Given the description of an element on the screen output the (x, y) to click on. 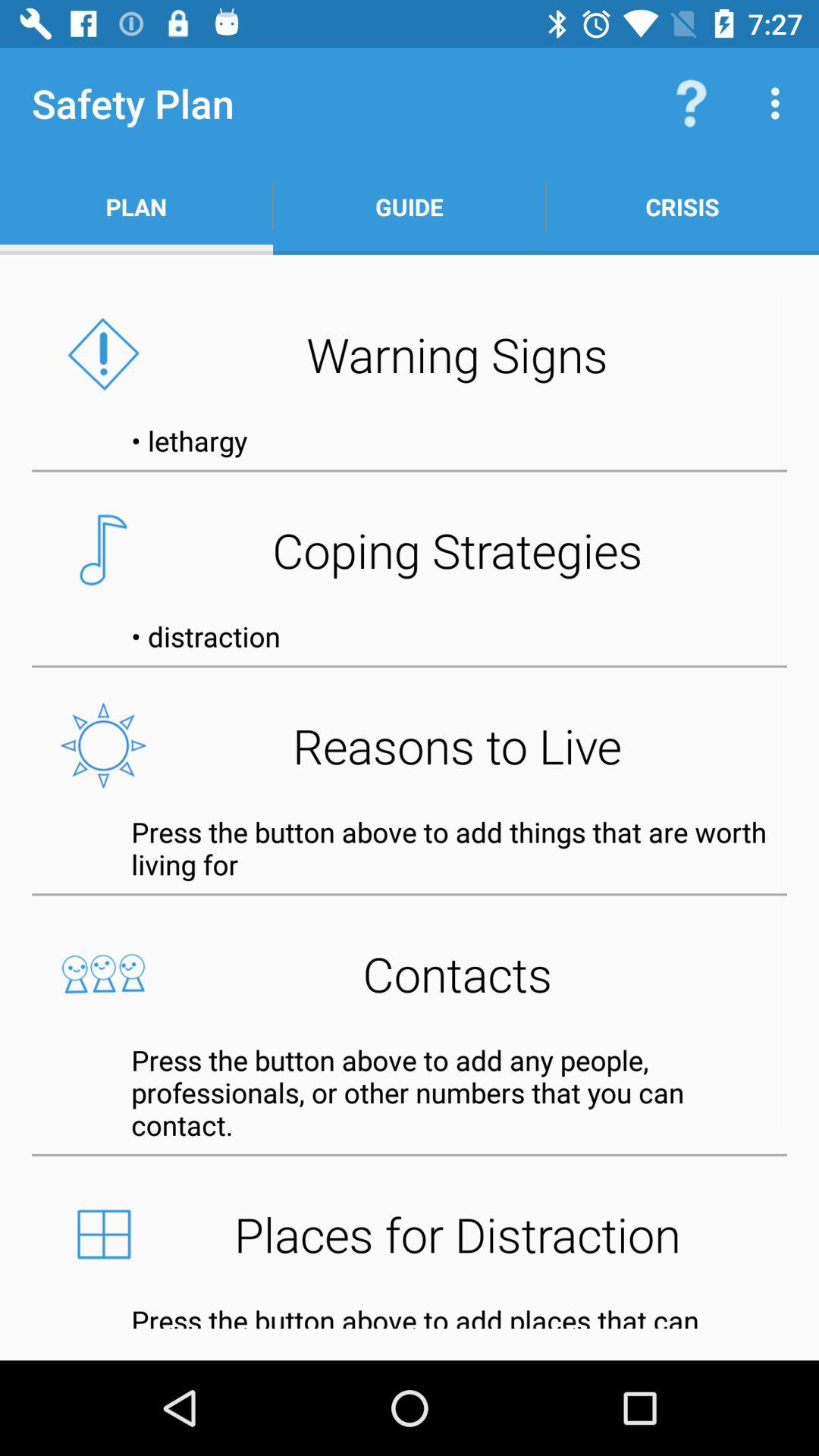
press the warning signs item (409, 354)
